Given the description of an element on the screen output the (x, y) to click on. 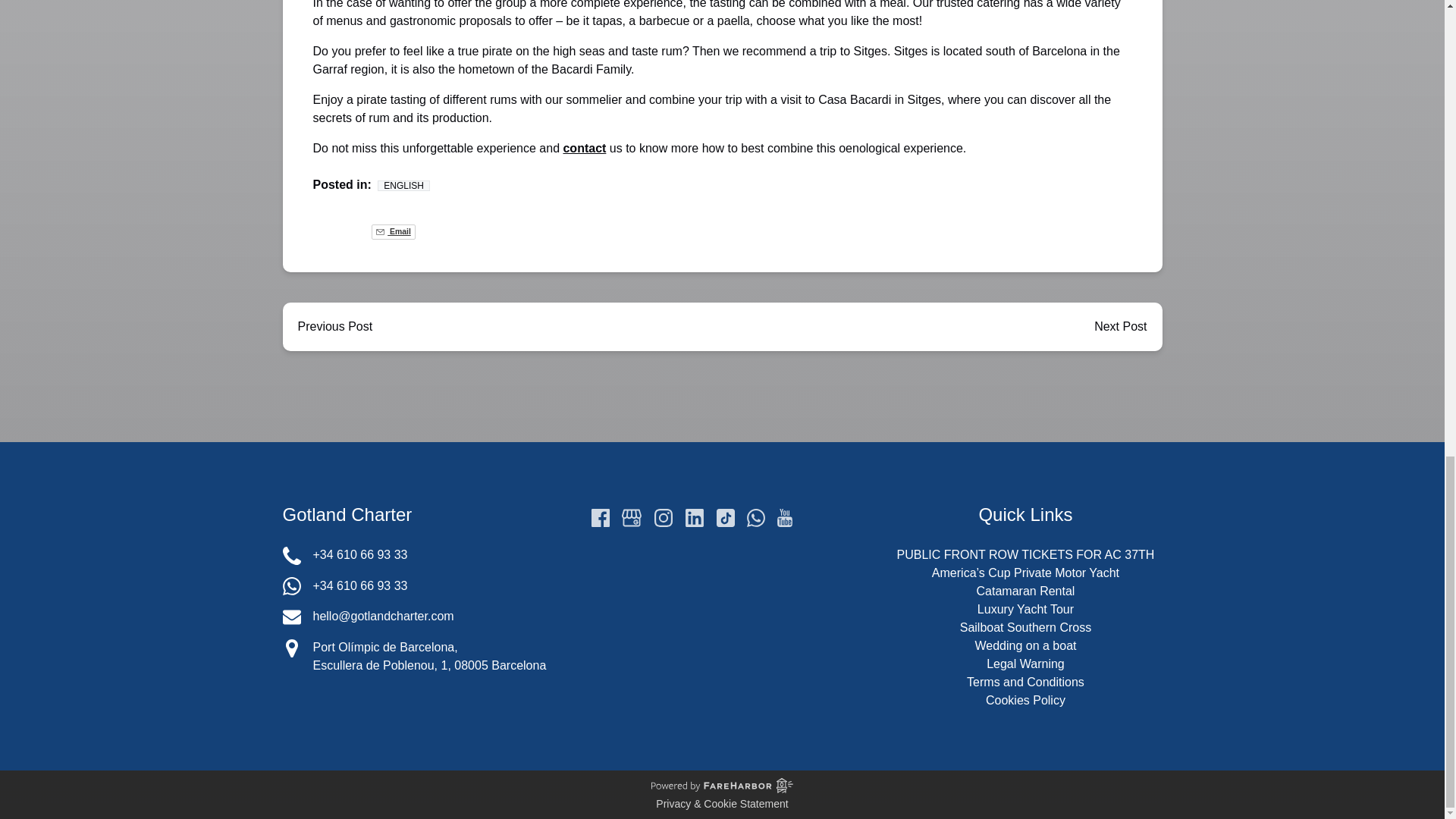
contact (583, 147)
Map Marker (290, 648)
Phone (290, 556)
Envelope (290, 617)
